Given the description of an element on the screen output the (x, y) to click on. 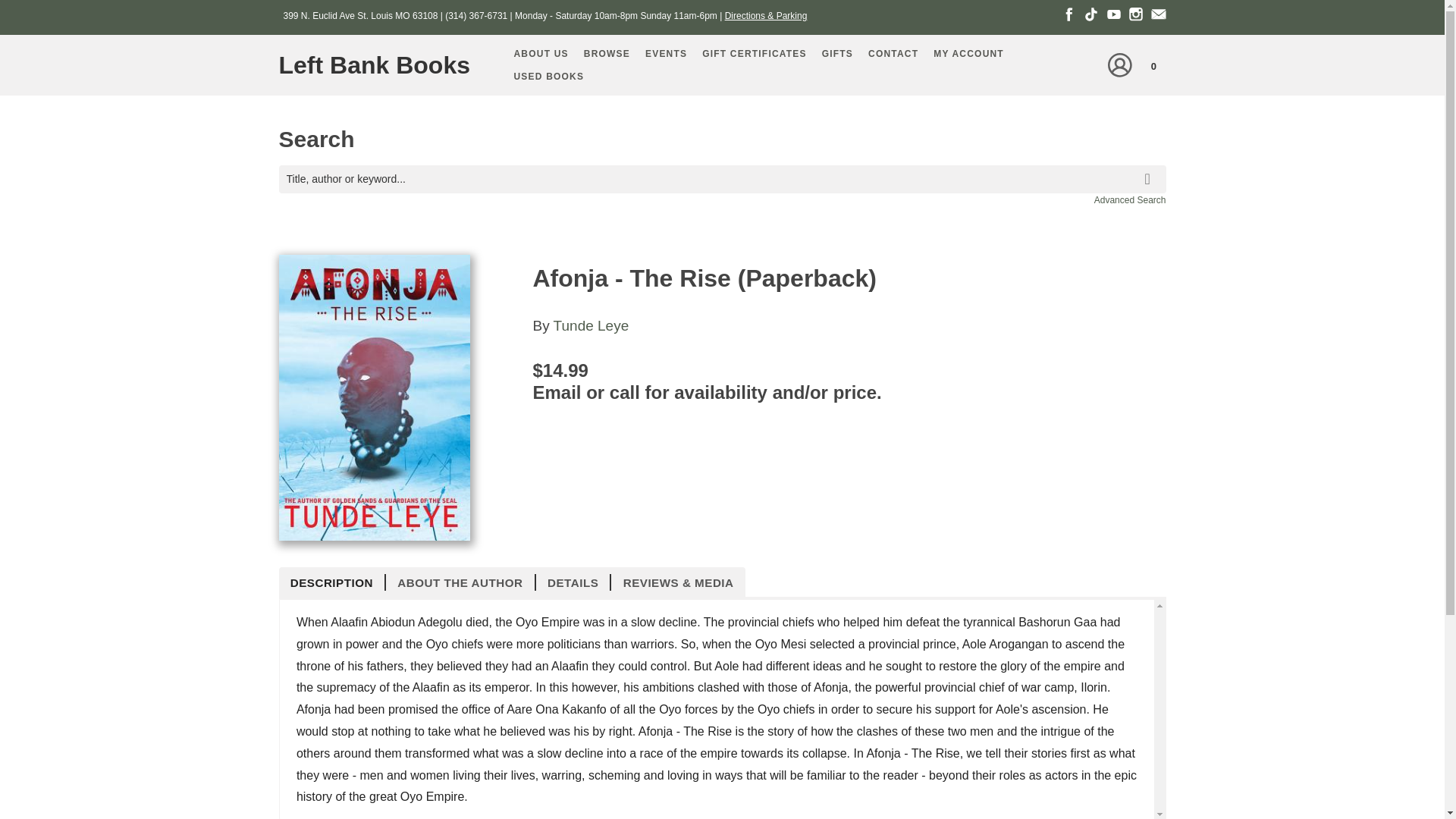
EVENTS (665, 53)
search (1150, 167)
Title, author or keyword... (722, 179)
GIFT CERTIFICATES (753, 53)
ABOUT US (541, 53)
GIFTS (836, 53)
T-Shirts, Gifts and More (836, 53)
BROWSE (606, 53)
Home (381, 64)
Left Bank Books (381, 64)
